Given the description of an element on the screen output the (x, y) to click on. 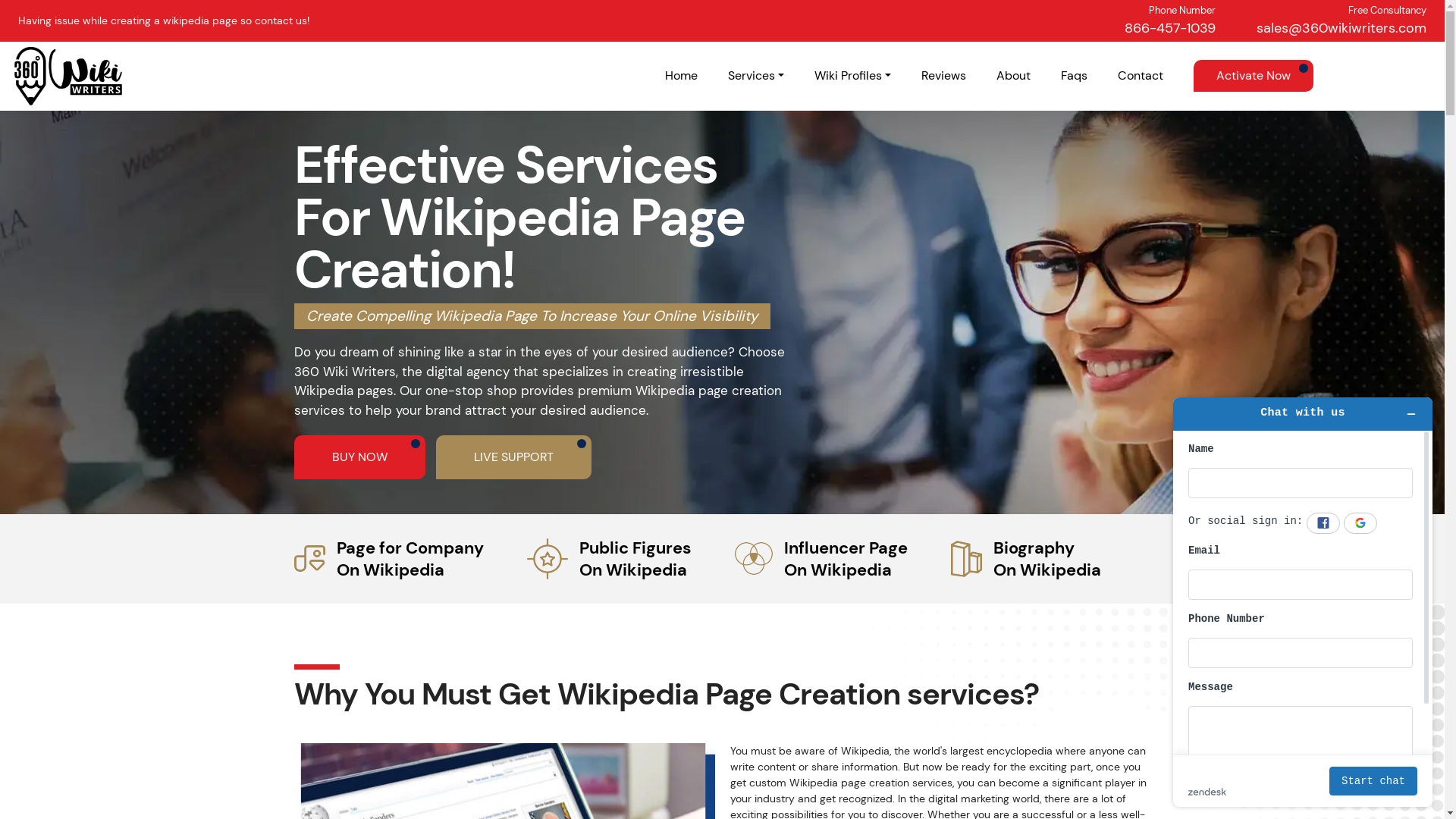
Activate Now Element type: text (1253, 75)
Services Element type: text (756, 75)
LIVE SUPPORT Element type: text (512, 457)
Reviews Element type: text (943, 75)
Contact Element type: text (1140, 75)
Wiki Profiles Element type: text (852, 75)
866-457-1039 Element type: text (1169, 27)
About Element type: text (1013, 75)
BUY NOW Element type: text (359, 457)
sales@360wikiwriters.com Element type: text (1341, 27)
Faqs Element type: text (1073, 75)
Home Element type: text (681, 75)
